Given the description of an element on the screen output the (x, y) to click on. 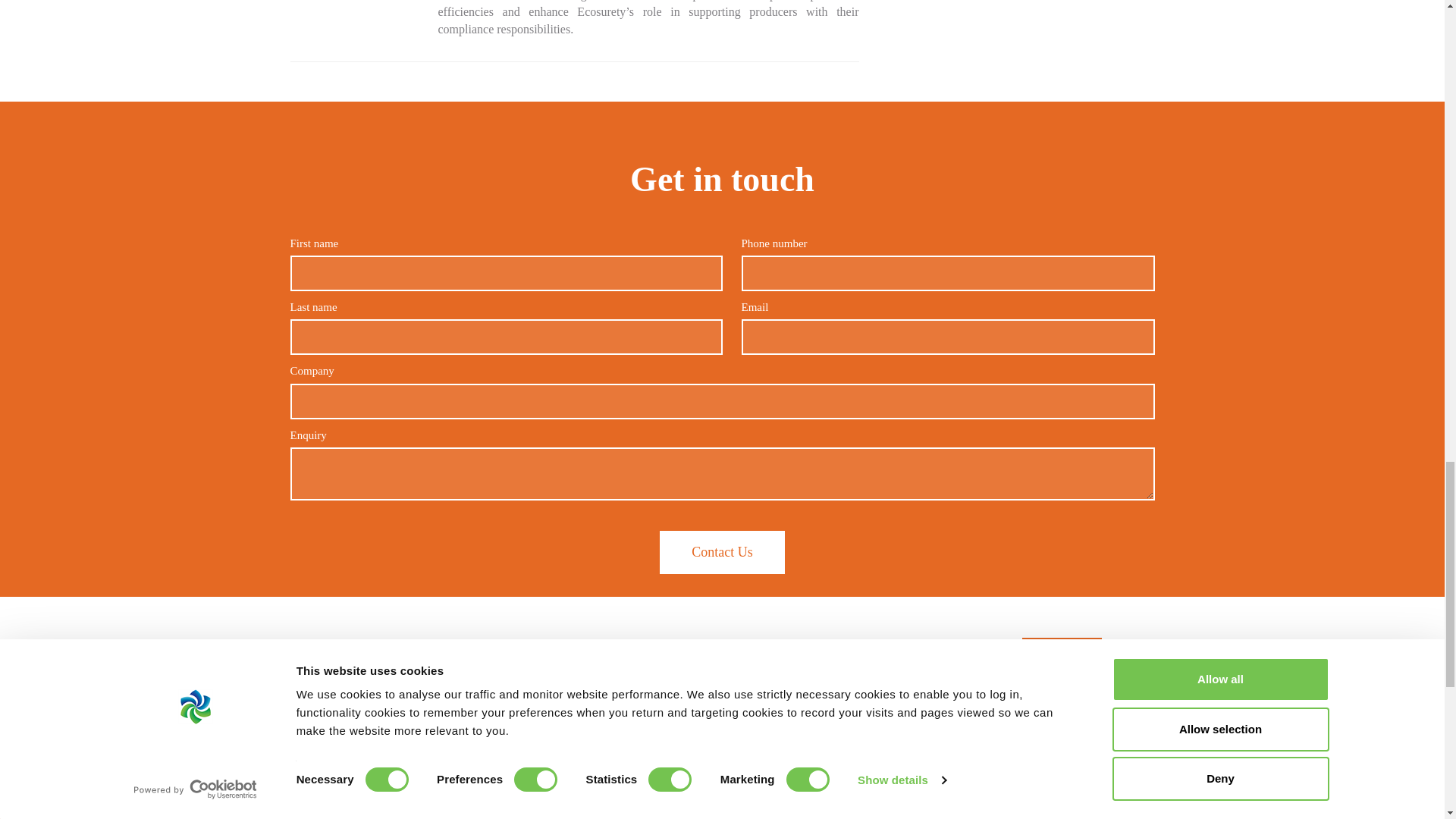
Contact Us (721, 552)
